Given the description of an element on the screen output the (x, y) to click on. 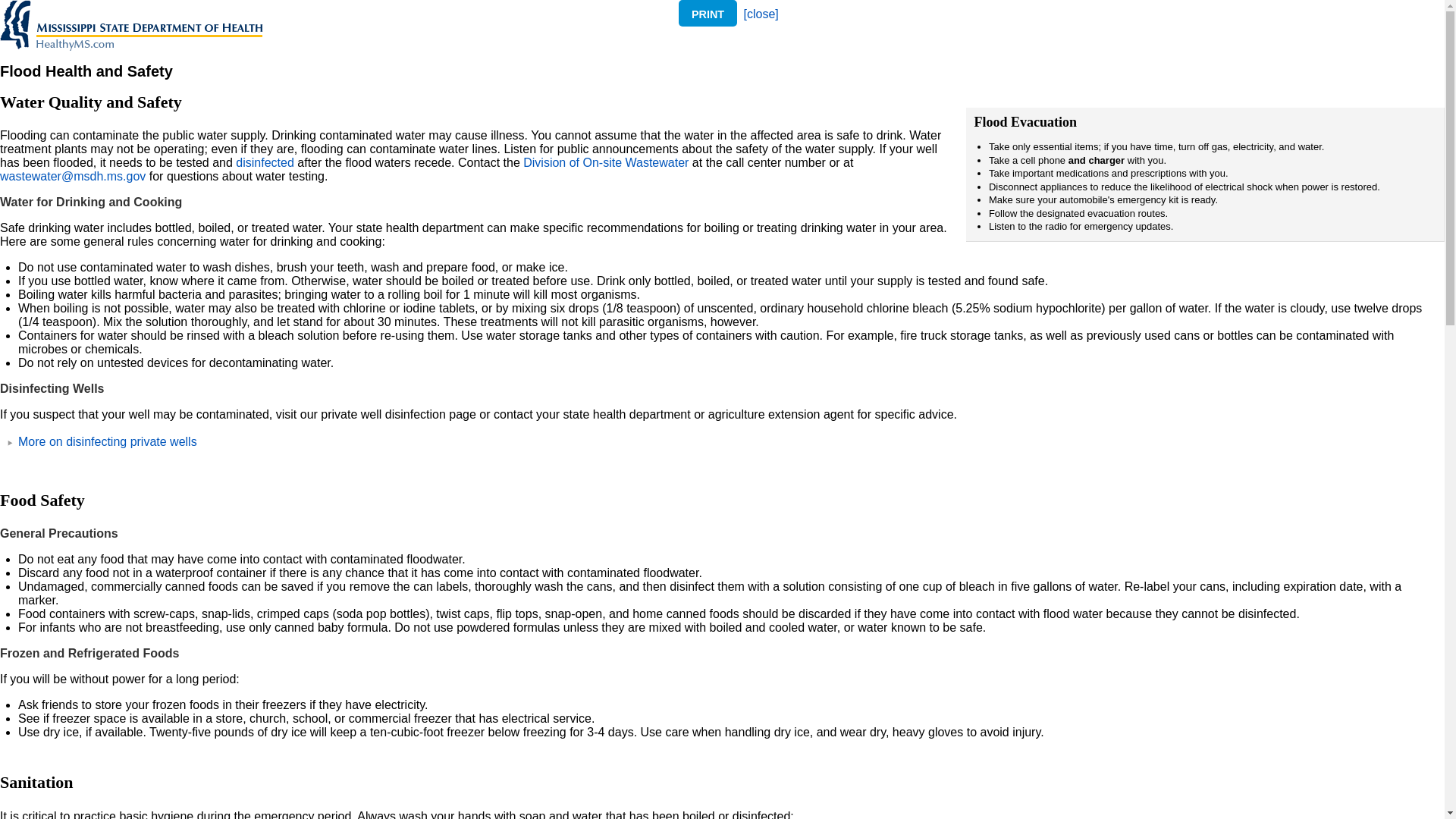
disinfected (264, 162)
PRINT (707, 13)
Division of On-site Wastewater (605, 162)
PRINT (707, 13)
More on disinfecting private wells (106, 440)
